Given the description of an element on the screen output the (x, y) to click on. 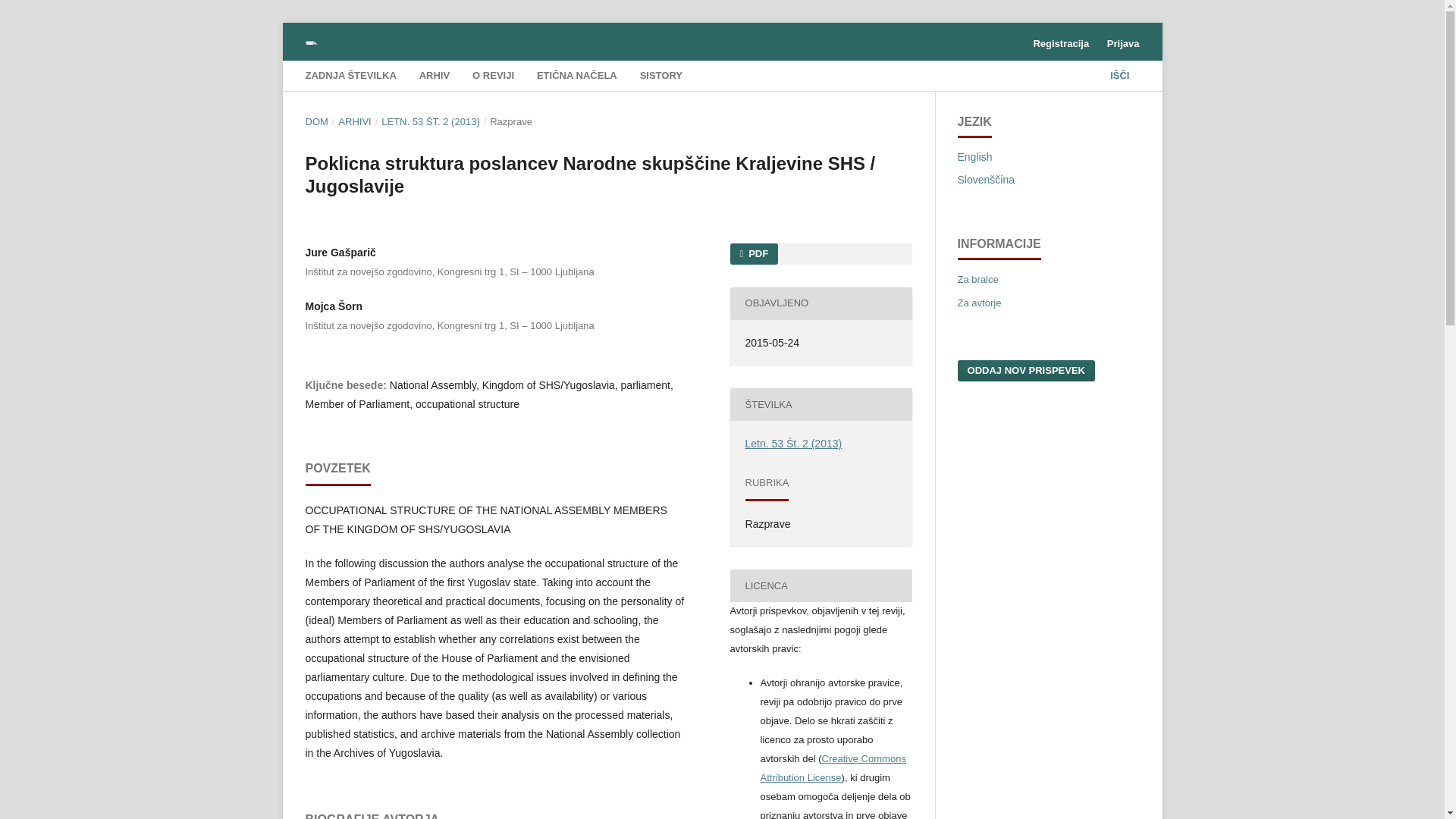
Creative Commons Attribution License (832, 767)
SISTORY (660, 77)
ARHIVI (354, 121)
PDF (753, 253)
Prijava (1123, 43)
ARHIV (433, 77)
Registracija (1060, 43)
DOM (315, 121)
Creative Commons (832, 767)
O REVIJI (493, 77)
